Given the description of an element on the screen output the (x, y) to click on. 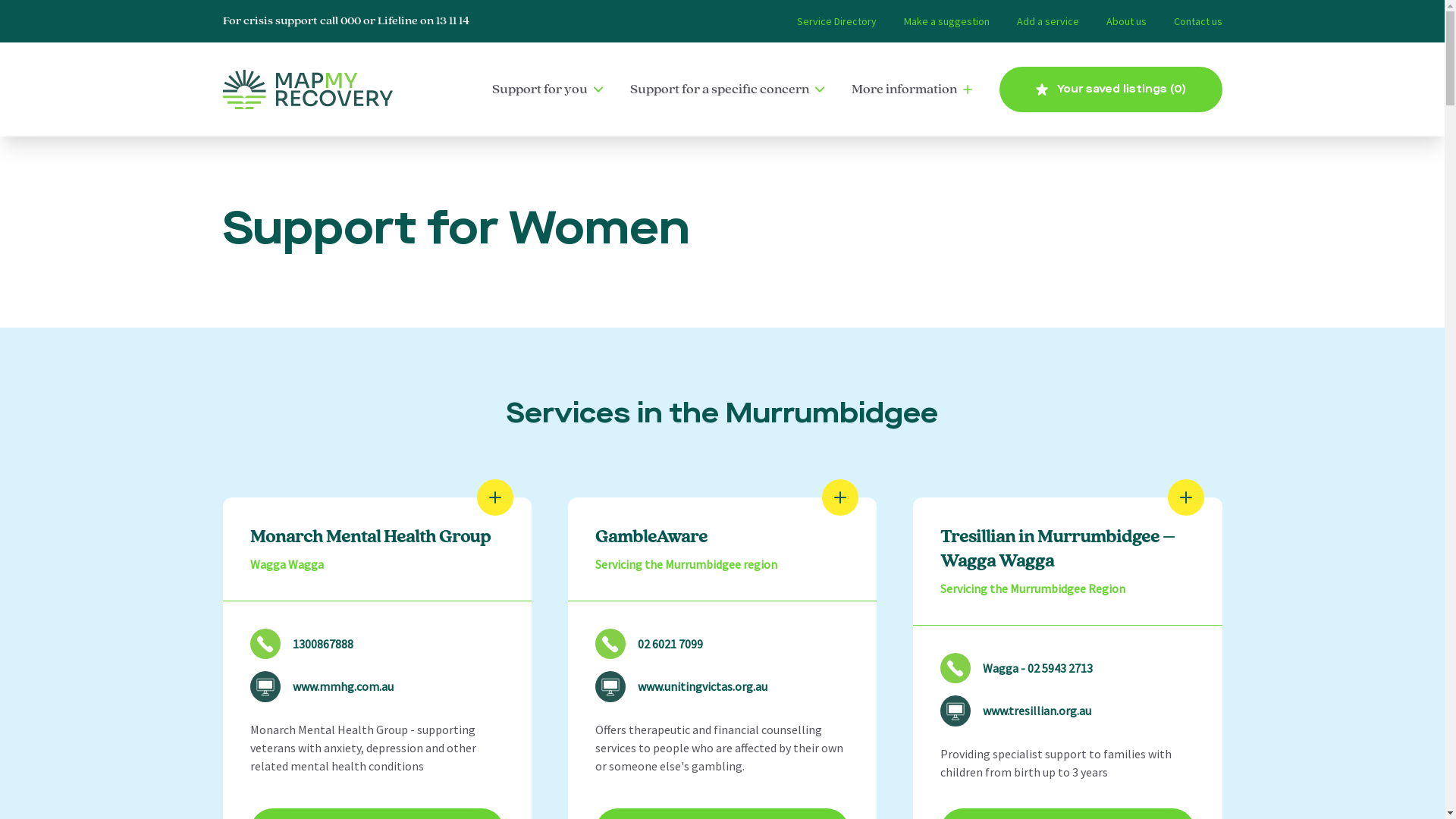
More information Element type: text (910, 89)
www.unitingvictas.org.au Element type: text (722, 686)
Contact us Element type: text (1197, 21)
Your saved listings (0) Element type: text (1110, 89)
02 6021 7099 Element type: text (722, 643)
www.mmhg.com.au Element type: text (377, 686)
www.tresillian.org.au Element type: text (1067, 710)
Support for a specific concern Element type: text (726, 89)
Make a suggestion Element type: text (946, 21)
1300867888 Element type: text (377, 643)
Add a service Element type: text (1047, 21)
Service Directory Element type: text (835, 21)
Support for you Element type: text (546, 89)
Wagga - 02 5943 2713 Element type: text (1067, 667)
About us Element type: text (1125, 21)
